Given the description of an element on the screen output the (x, y) to click on. 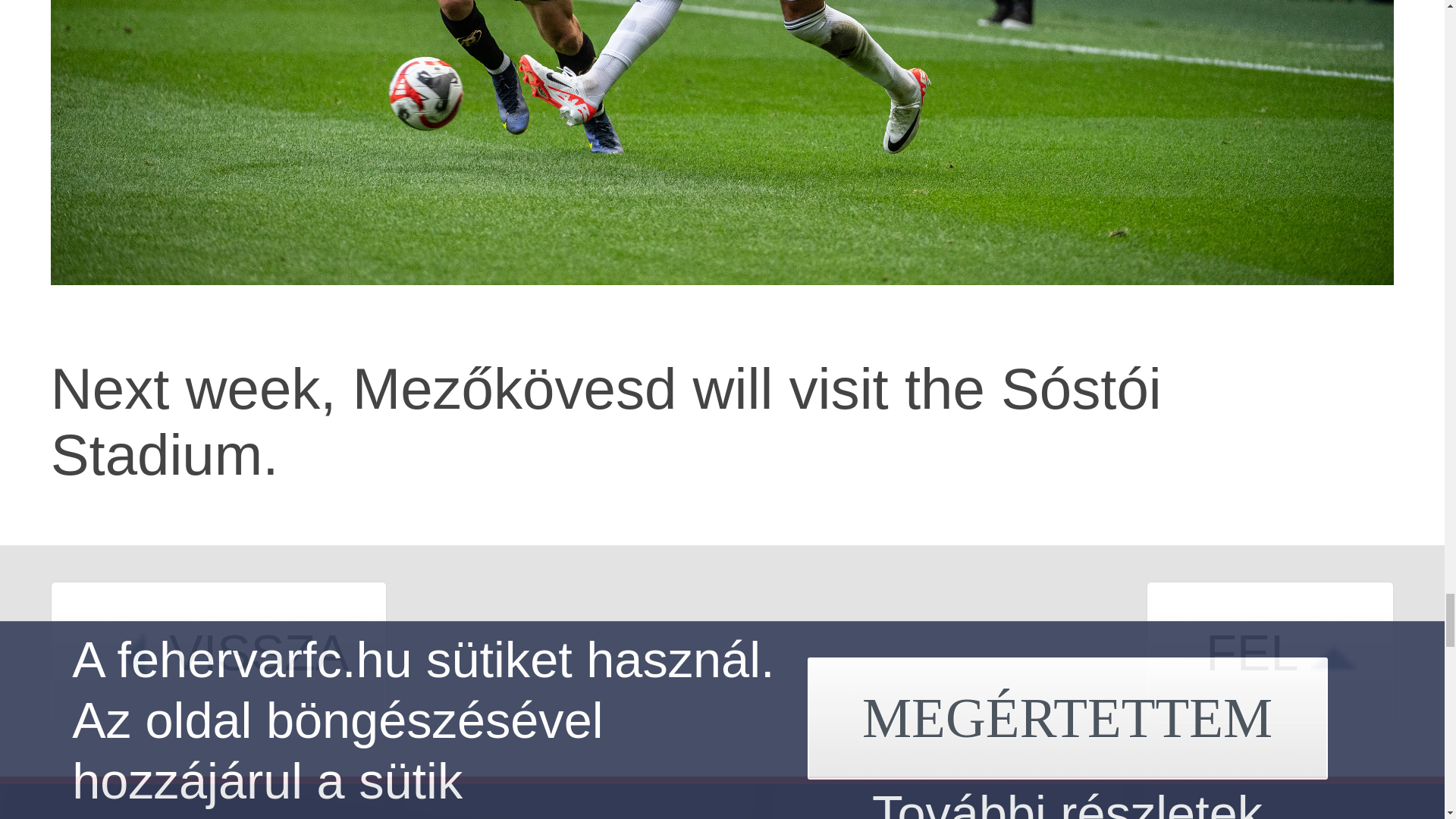
FEL (1270, 661)
VISSZA (218, 661)
